Given the description of an element on the screen output the (x, y) to click on. 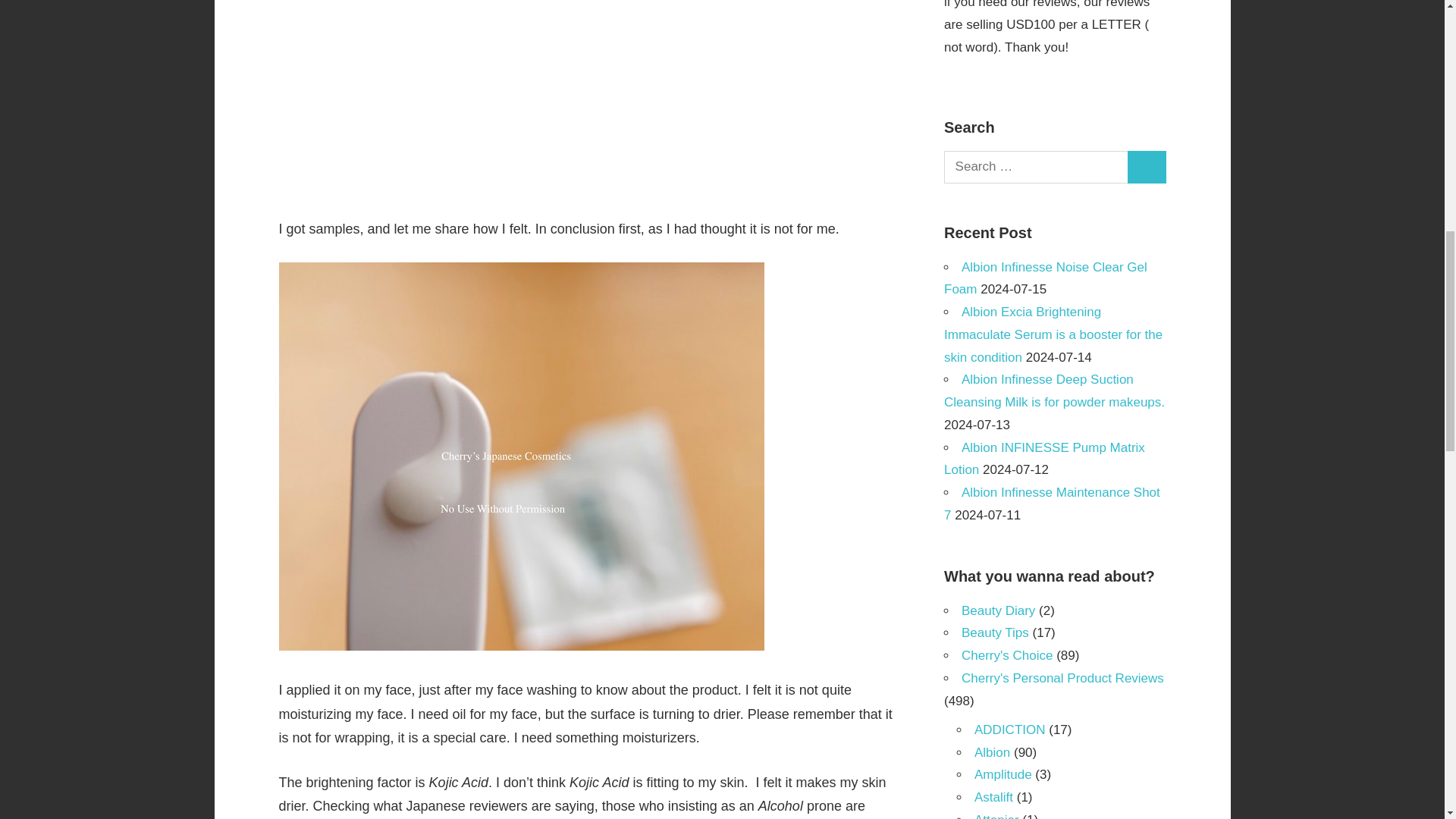
Astalift (993, 797)
Search for: (1035, 166)
Search (1146, 166)
Albion Infinesse Maintenance Shot 7 (1051, 503)
Beauty Diary (997, 610)
Albion INFINESSE Pump Matrix Lotion (1043, 458)
Cherry's Personal Product Reviews (1061, 677)
Albion Infinesse Noise Clear Gel Foam (1045, 278)
Beauty Tips (994, 632)
